Given the description of an element on the screen output the (x, y) to click on. 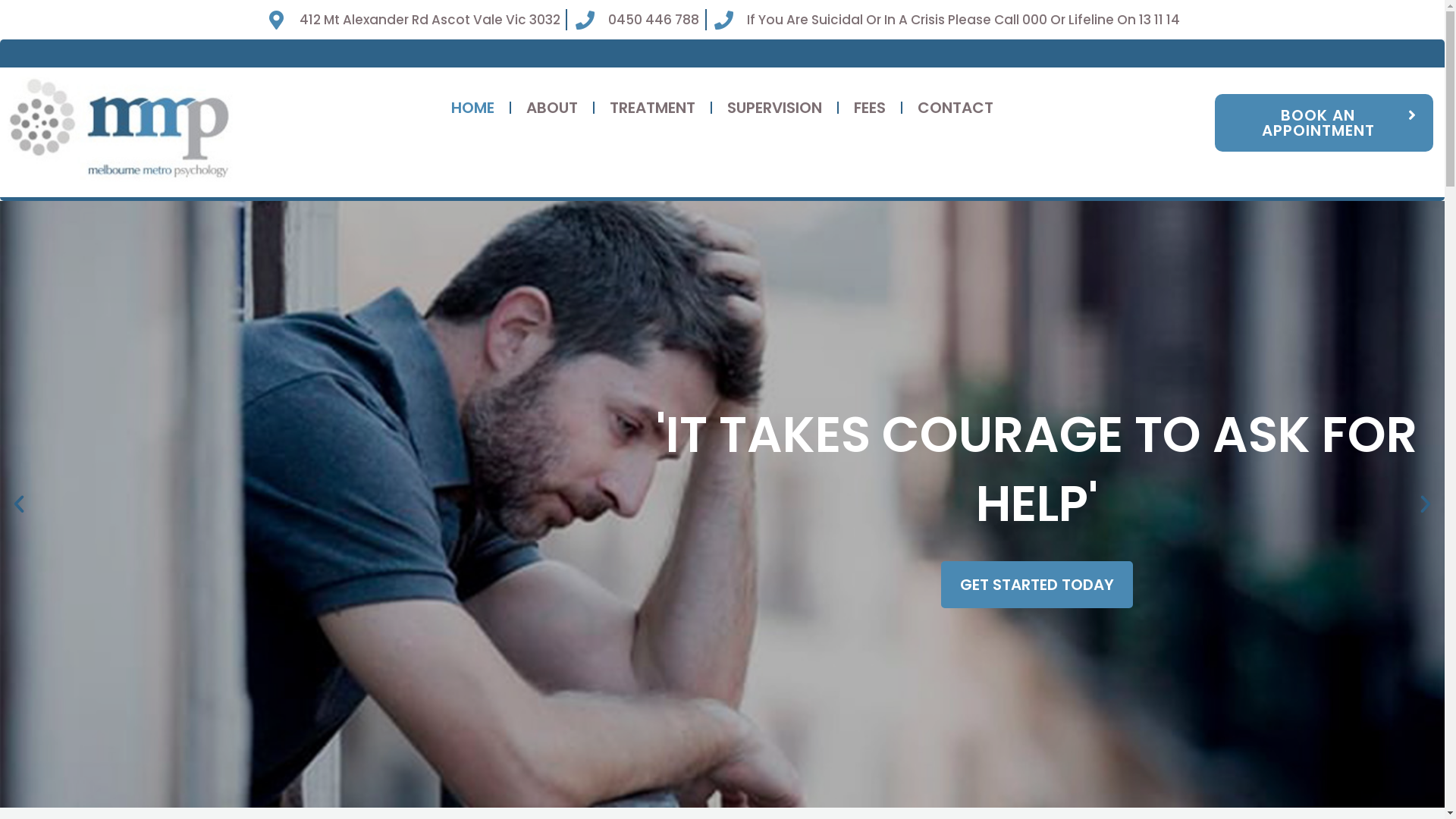
BOOK AN APPOINTMENT Element type: text (1323, 122)
HOME Element type: text (472, 107)
ABOUT Element type: text (552, 107)
SUPERVISION Element type: text (774, 107)
CONTACT Element type: text (955, 107)
FEES Element type: text (869, 107)
'IT TAKES COURAGE TO ASK FOR HELP'
GET STARTED TODAY Element type: text (722, 503)
TREATMENT Element type: text (652, 107)
